Given the description of an element on the screen output the (x, y) to click on. 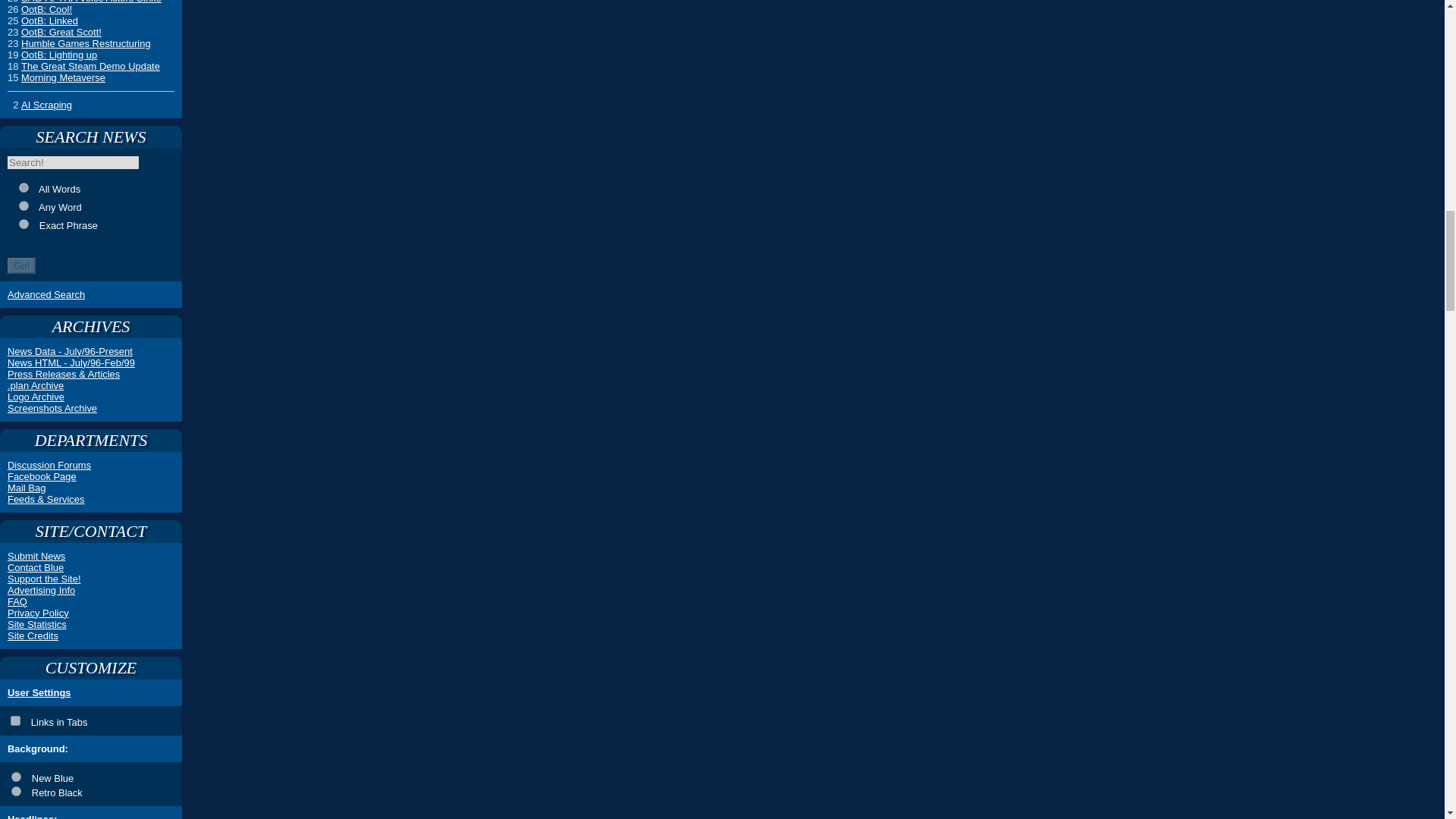
Check this box to launch external links in new tabs (91, 720)
2 (23, 205)
1 (23, 187)
